Given the description of an element on the screen output the (x, y) to click on. 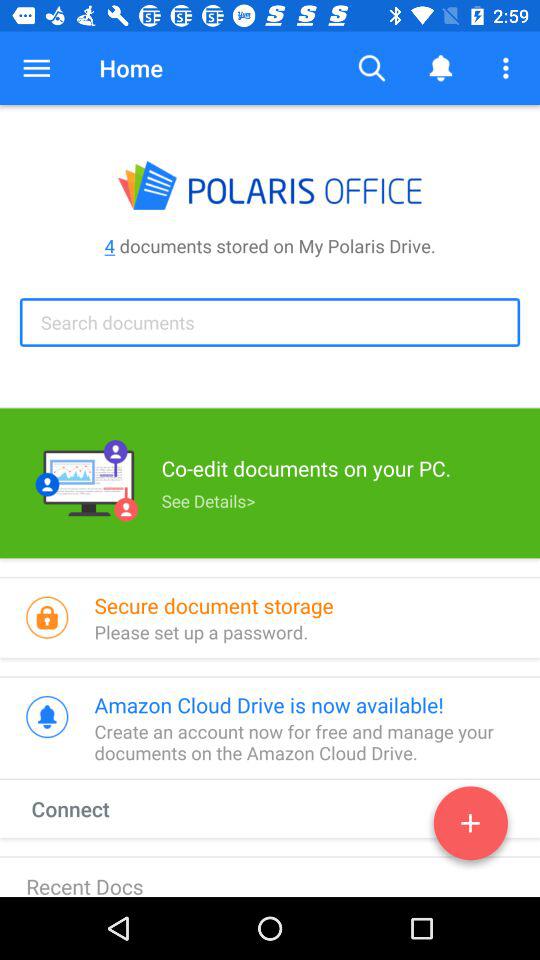
turn off the icon next to the home icon (36, 68)
